Given the description of an element on the screen output the (x, y) to click on. 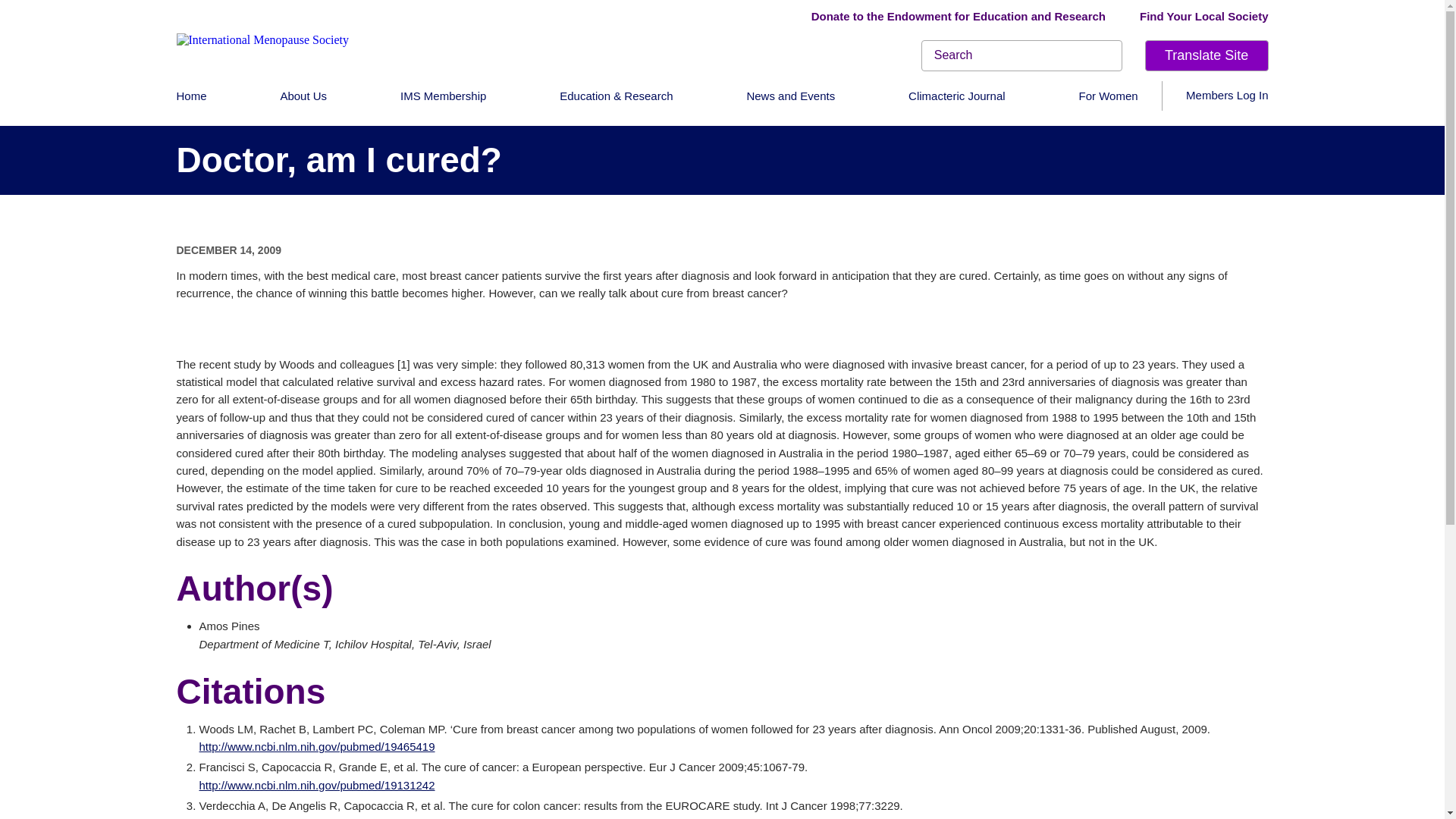
Find Your Local Society (1204, 15)
IMS Membership (443, 96)
Donate to the Endowment for Education and Research (957, 15)
Home (191, 96)
About Us (302, 96)
